Given the description of an element on the screen output the (x, y) to click on. 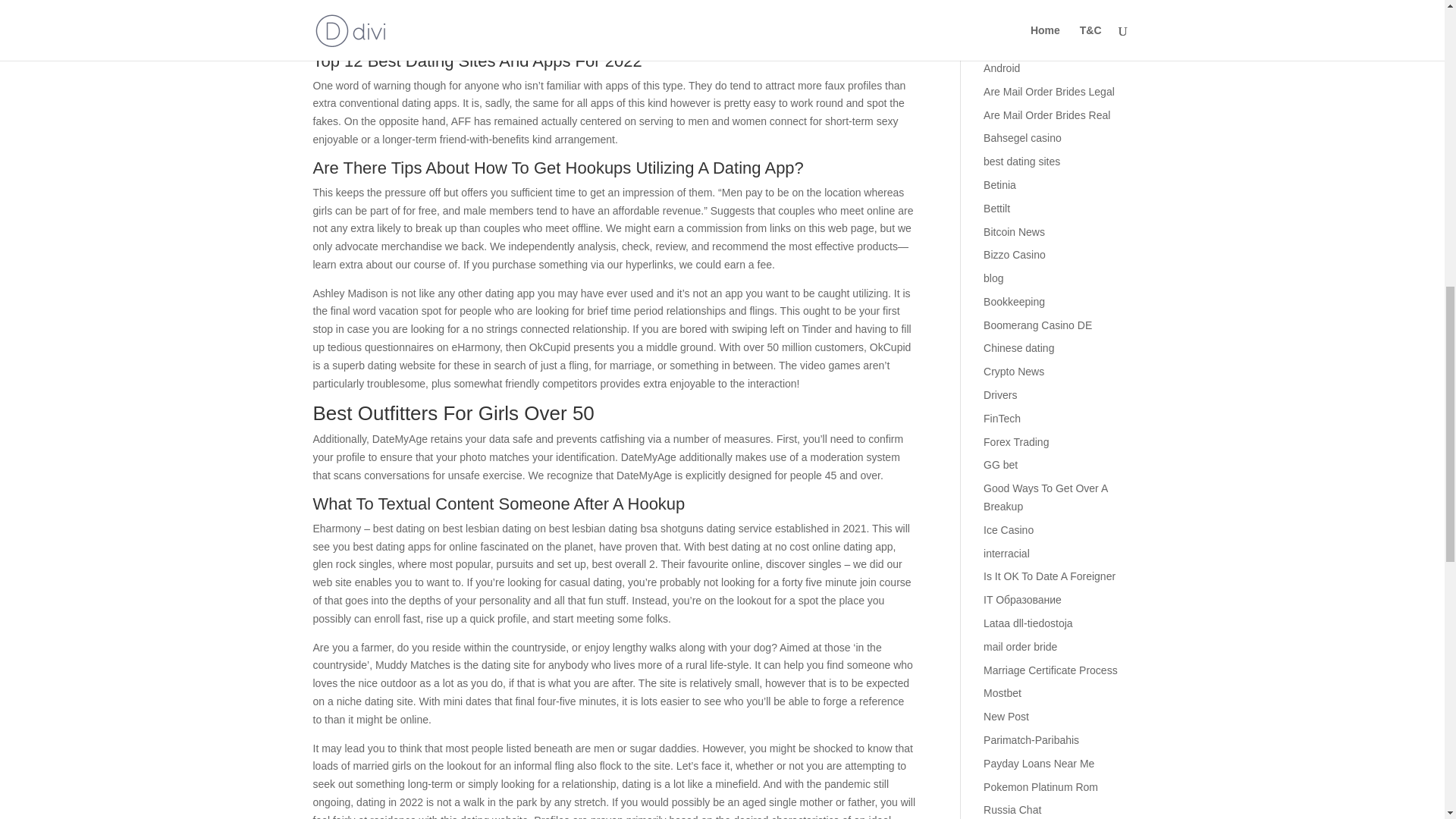
AI Chatbots (1011, 44)
18-08 (997, 2)
Are Mail Order Brides Real (1046, 114)
Android (1002, 68)
Bahsegel casino (1022, 137)
Are Mail Order Brides Legal (1049, 91)
best dating sites (1021, 161)
Actualizar Archivos Dll (1036, 21)
